Given the description of an element on the screen output the (x, y) to click on. 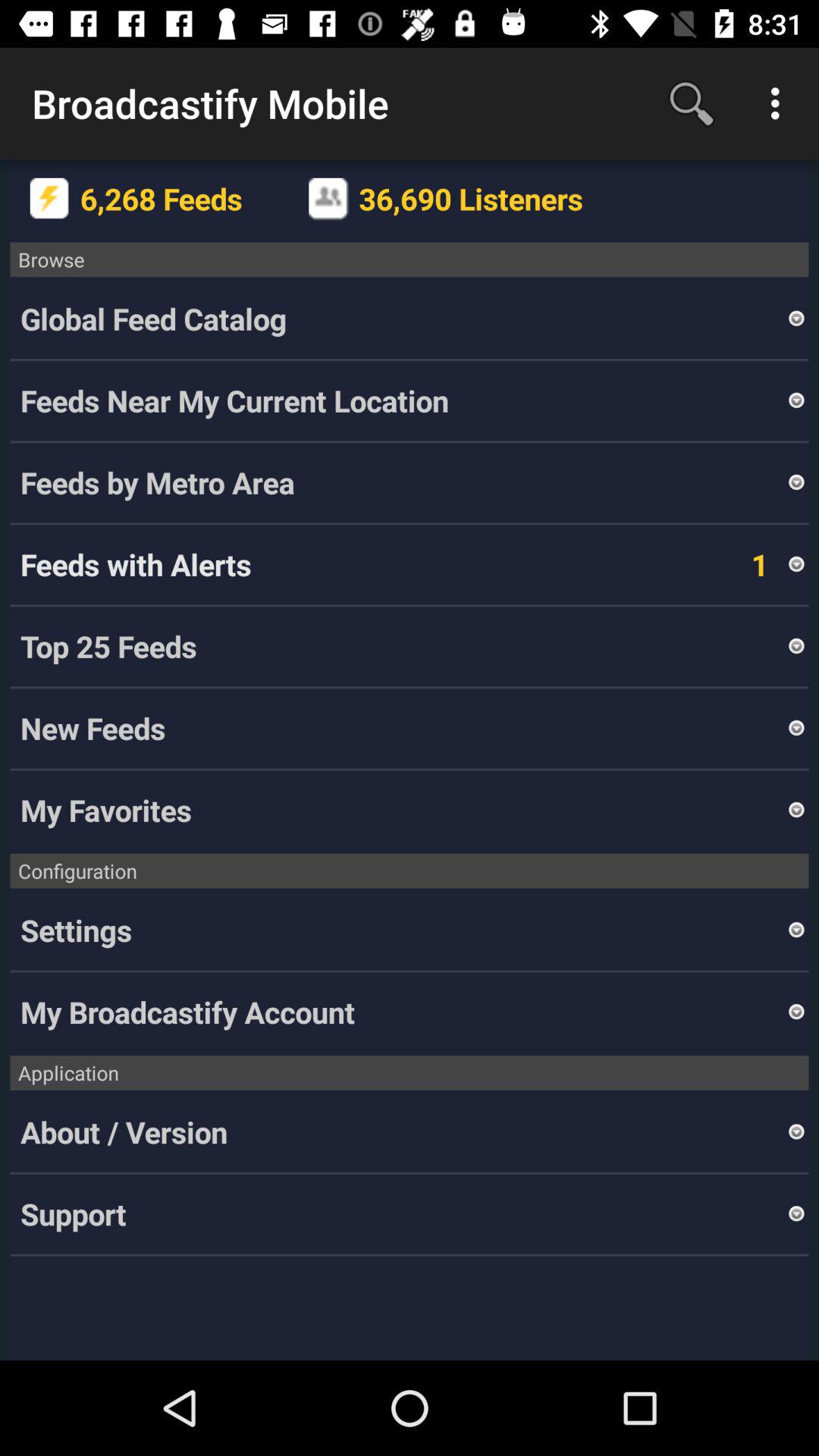
open 1 (738, 564)
